Given the description of an element on the screen output the (x, y) to click on. 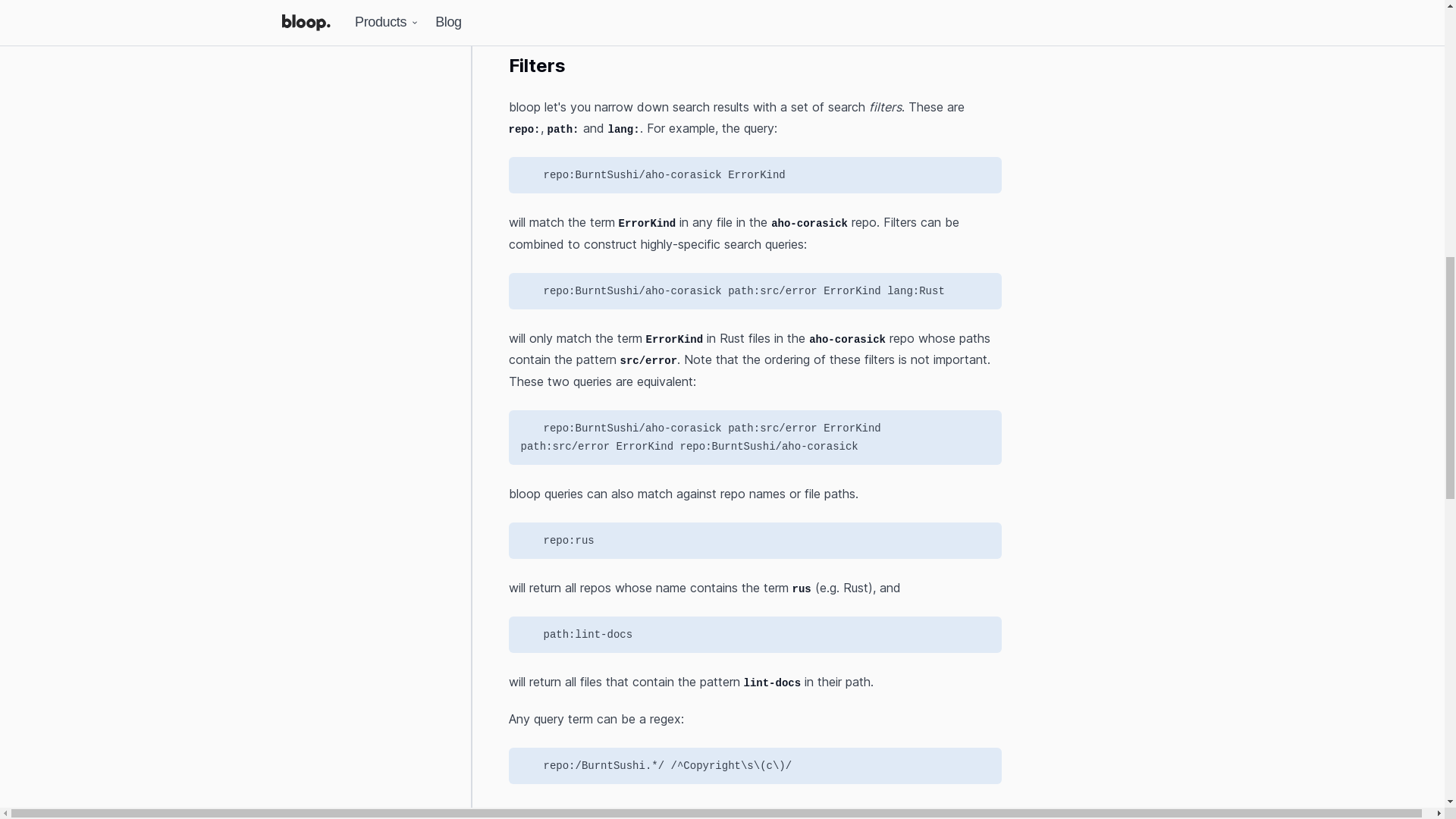
regex (855, 7)
